Given the description of an element on the screen output the (x, y) to click on. 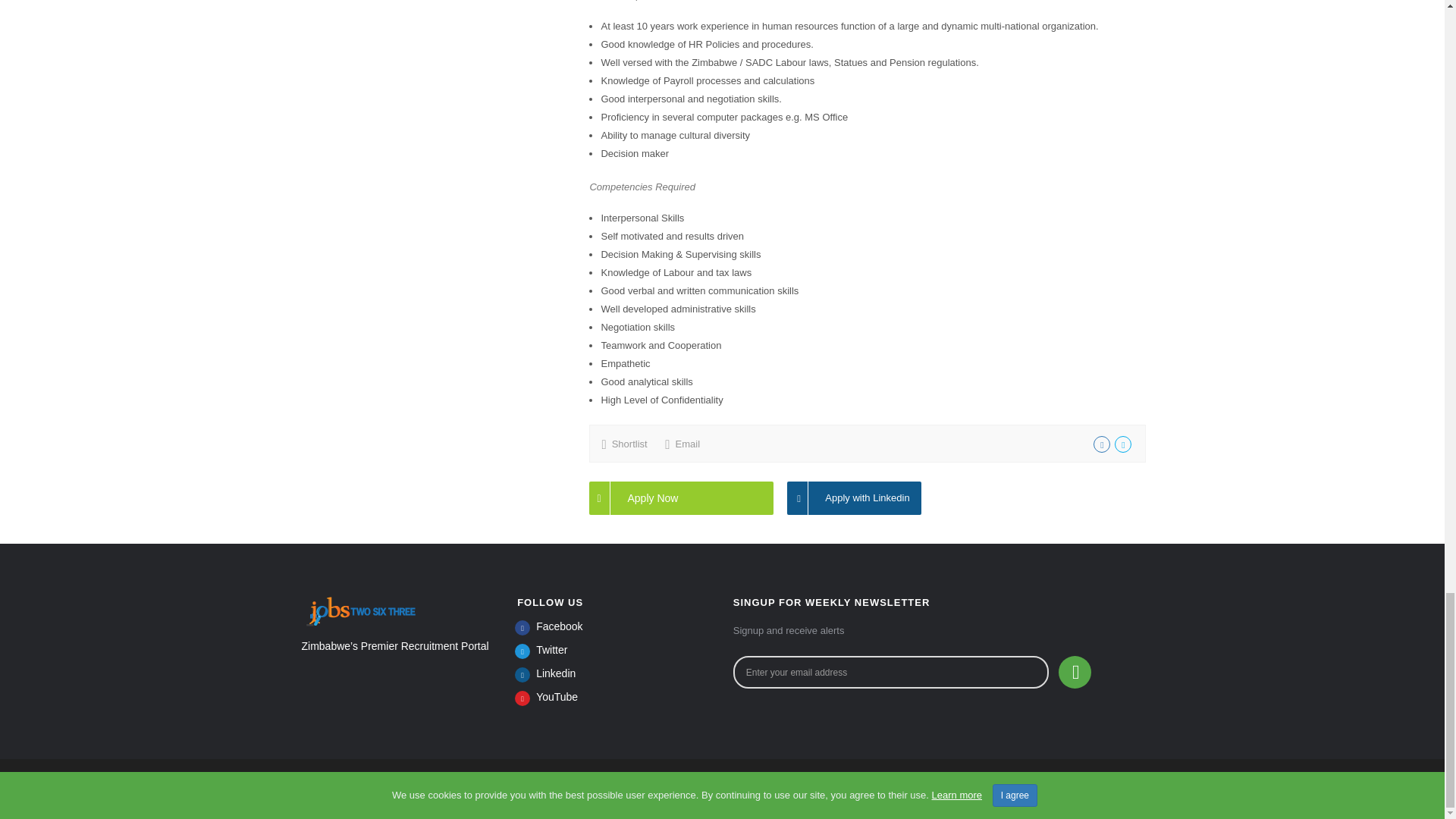
Enter your email address (890, 672)
Email (687, 443)
Shortlist (629, 443)
Apply Now (681, 498)
